Given the description of an element on the screen output the (x, y) to click on. 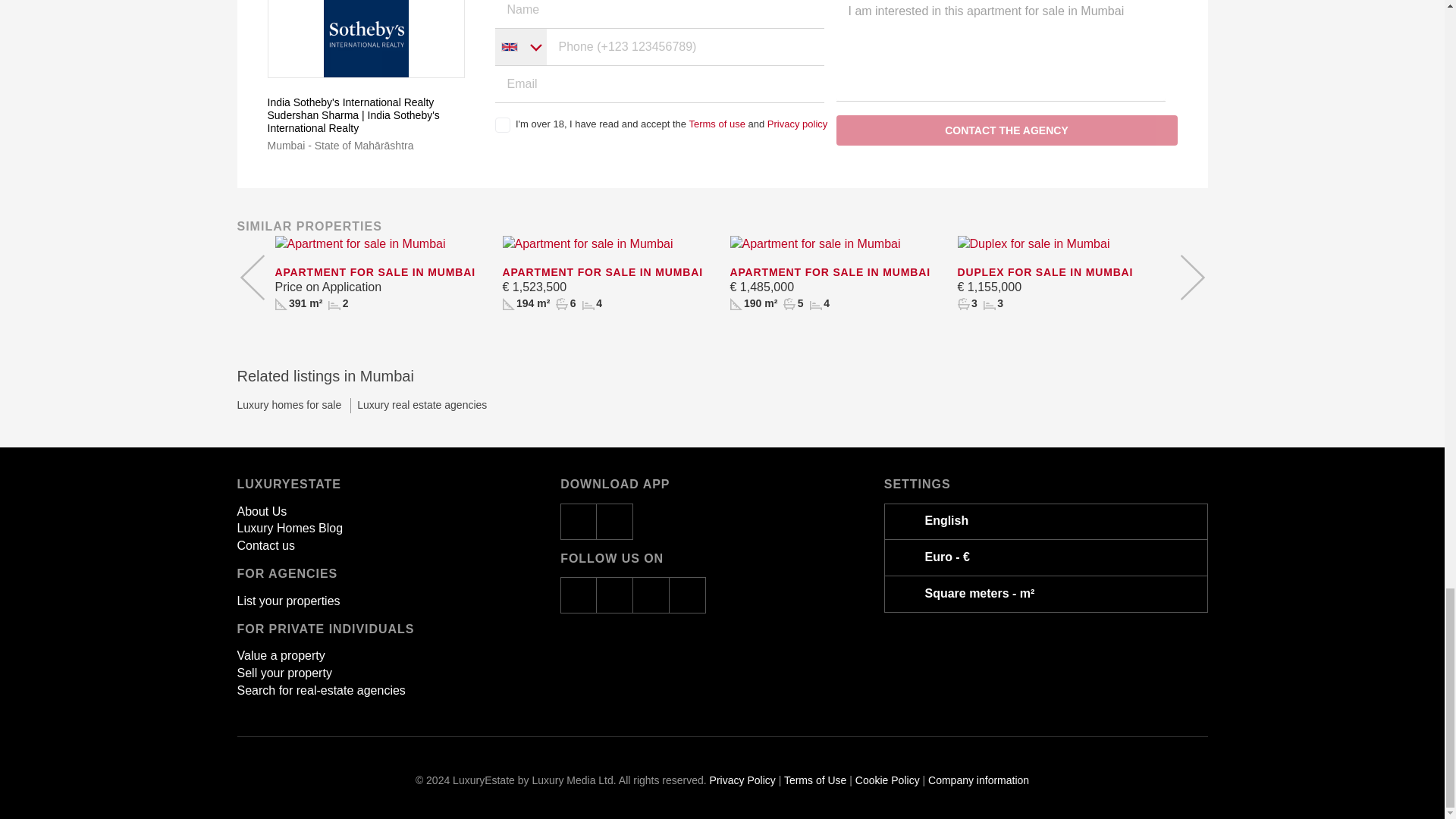
APARTMENT FOR SALE IN MUMBAI (380, 272)
LuxuryEstate iOS app (578, 521)
Luxury homes for sale (289, 404)
on (502, 124)
Luxury Homes Blog (288, 527)
Terms of use (716, 123)
LuxuryEstate android app (614, 521)
India Sotheby's International Realty (365, 102)
Privacy policy (797, 123)
Advertise your luxury property on LuxuryEstate (287, 600)
DUPLEX FOR SALE IN MUMBAI (1062, 272)
About Us (260, 511)
Luxury real estate agencies (414, 404)
Luxury real estate agencies in mumbai (414, 404)
CONTACT THE AGENCY (1005, 130)
